Given the description of an element on the screen output the (x, y) to click on. 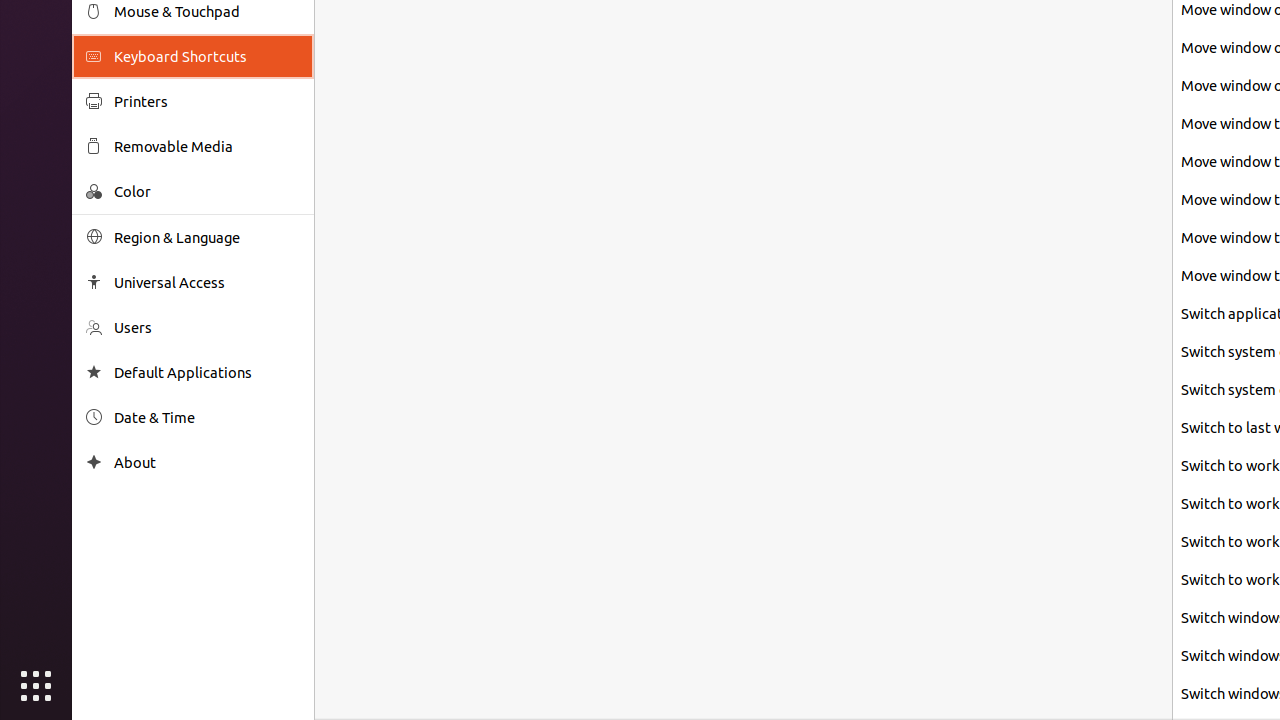
Default Applications Element type: label (207, 372)
About Element type: label (207, 462)
